Given the description of an element on the screen output the (x, y) to click on. 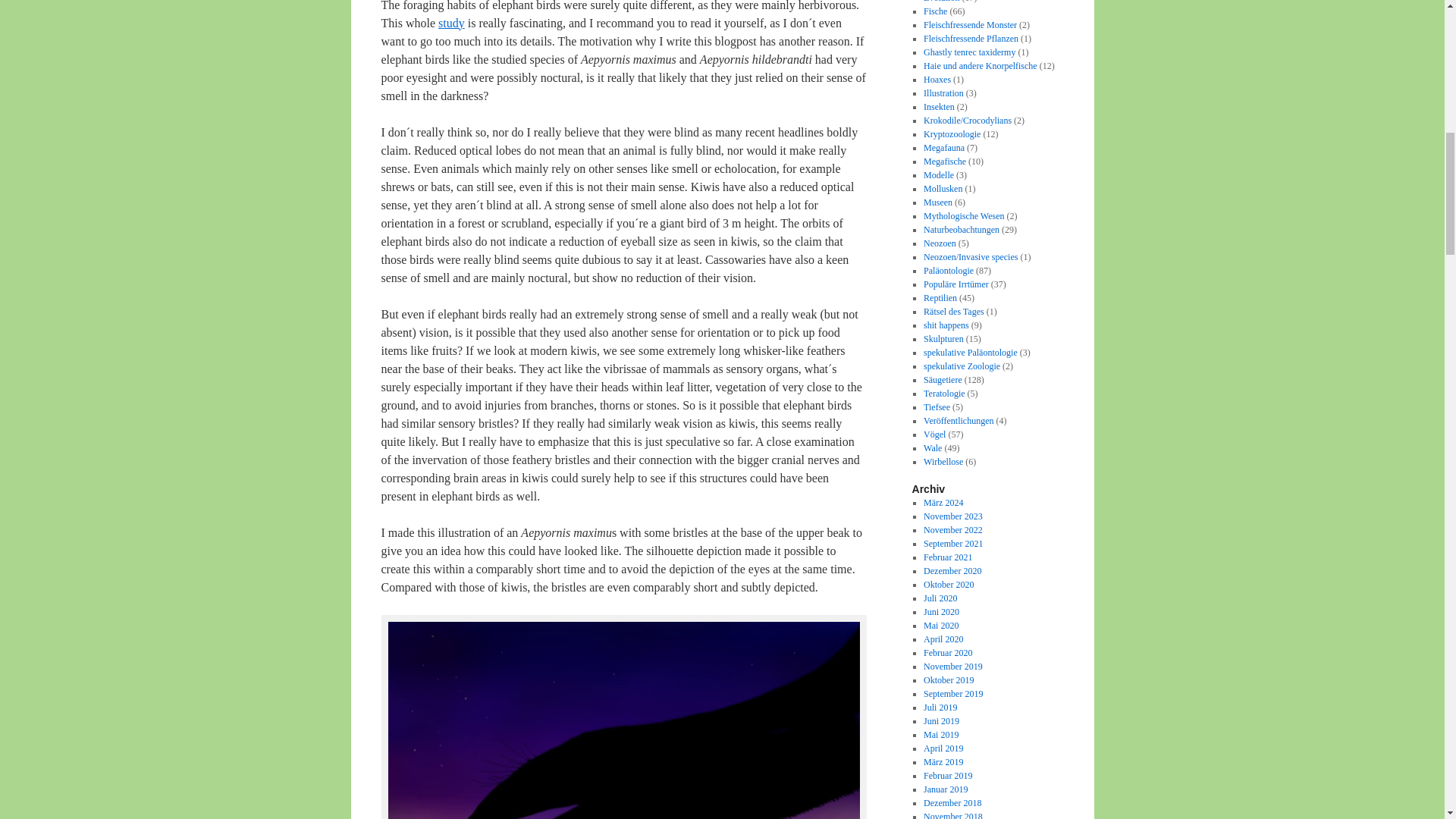
Evolution (941, 1)
Fische (935, 10)
Fleischfressende Monster (969, 24)
Fleischfressende Pflanzen (970, 38)
study (451, 22)
